Given the description of an element on the screen output the (x, y) to click on. 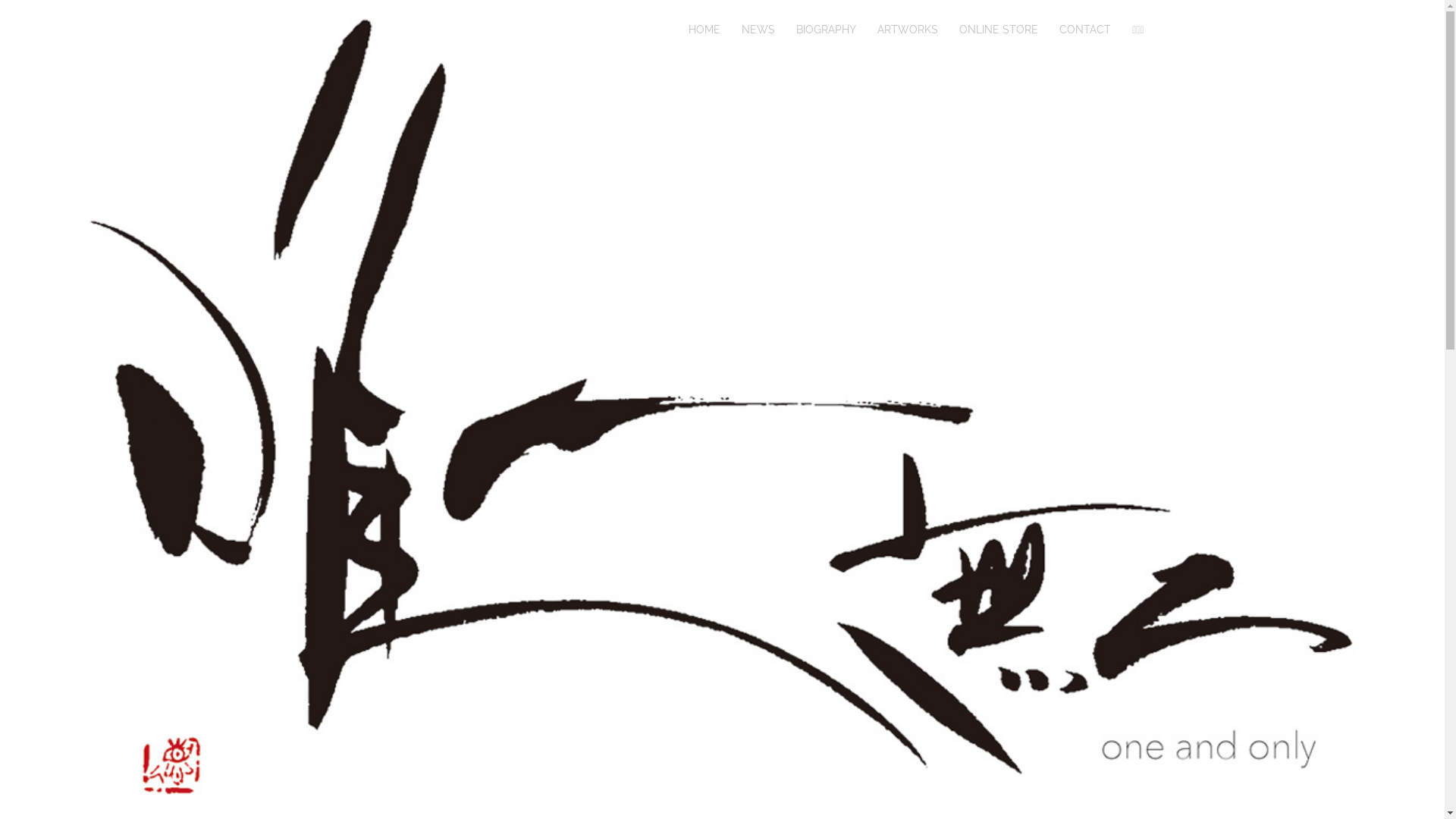
ARTWORKS Element type: text (907, 30)
BIOGRAPHY Element type: text (826, 30)
CONTACT Element type: text (1084, 30)
1109 Element type: text (311, 29)
NEWS Element type: text (758, 30)
ONLINE STORE Element type: text (998, 30)
HOME Element type: text (704, 30)
